Given the description of an element on the screen output the (x, y) to click on. 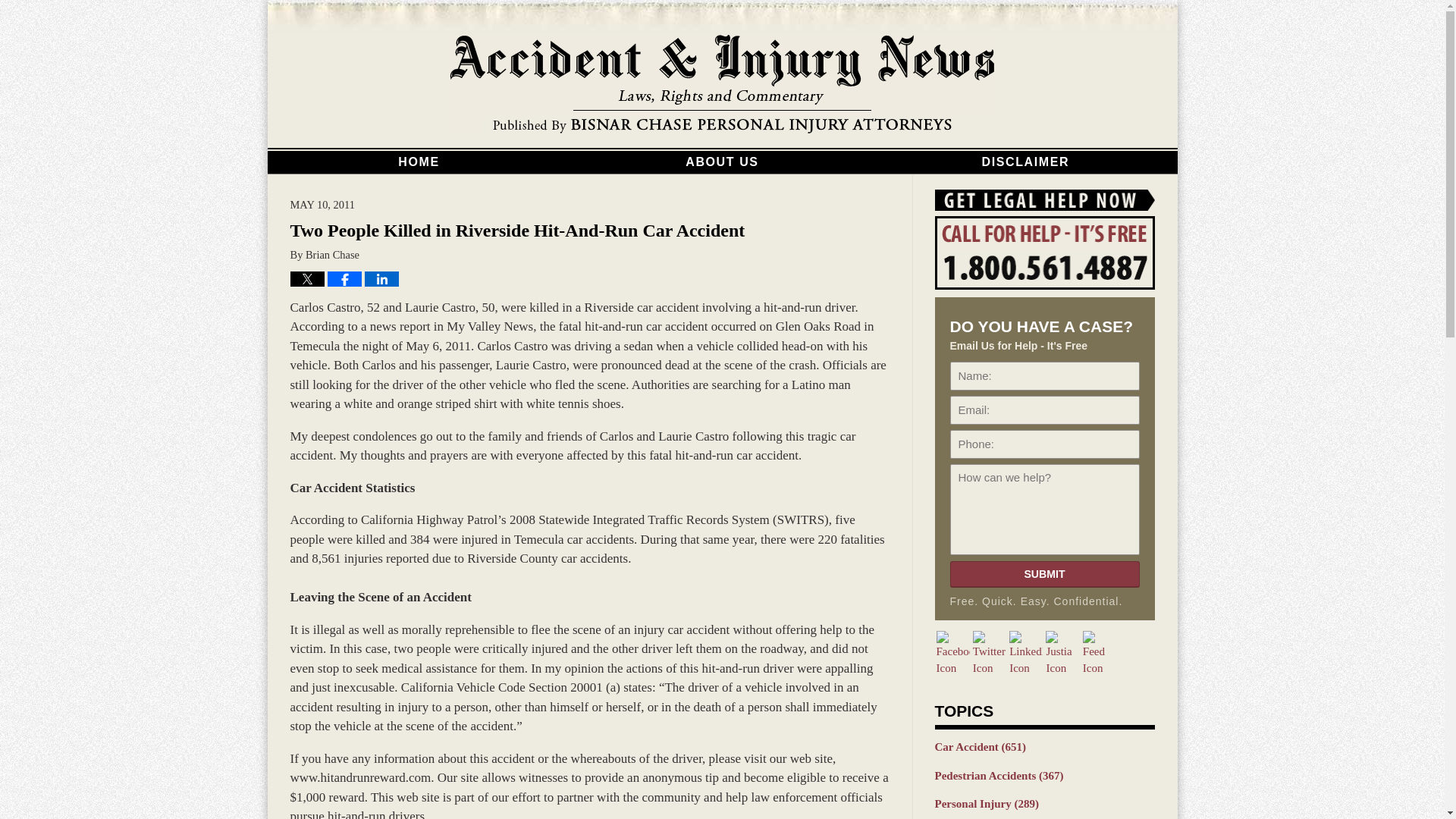
HOME (418, 161)
California Injury Blog (721, 84)
ABOUT US (721, 161)
SUBMIT (1043, 574)
Please enter a valid phone number. (1043, 443)
DISCLAIMER (1024, 161)
